Given the description of an element on the screen output the (x, y) to click on. 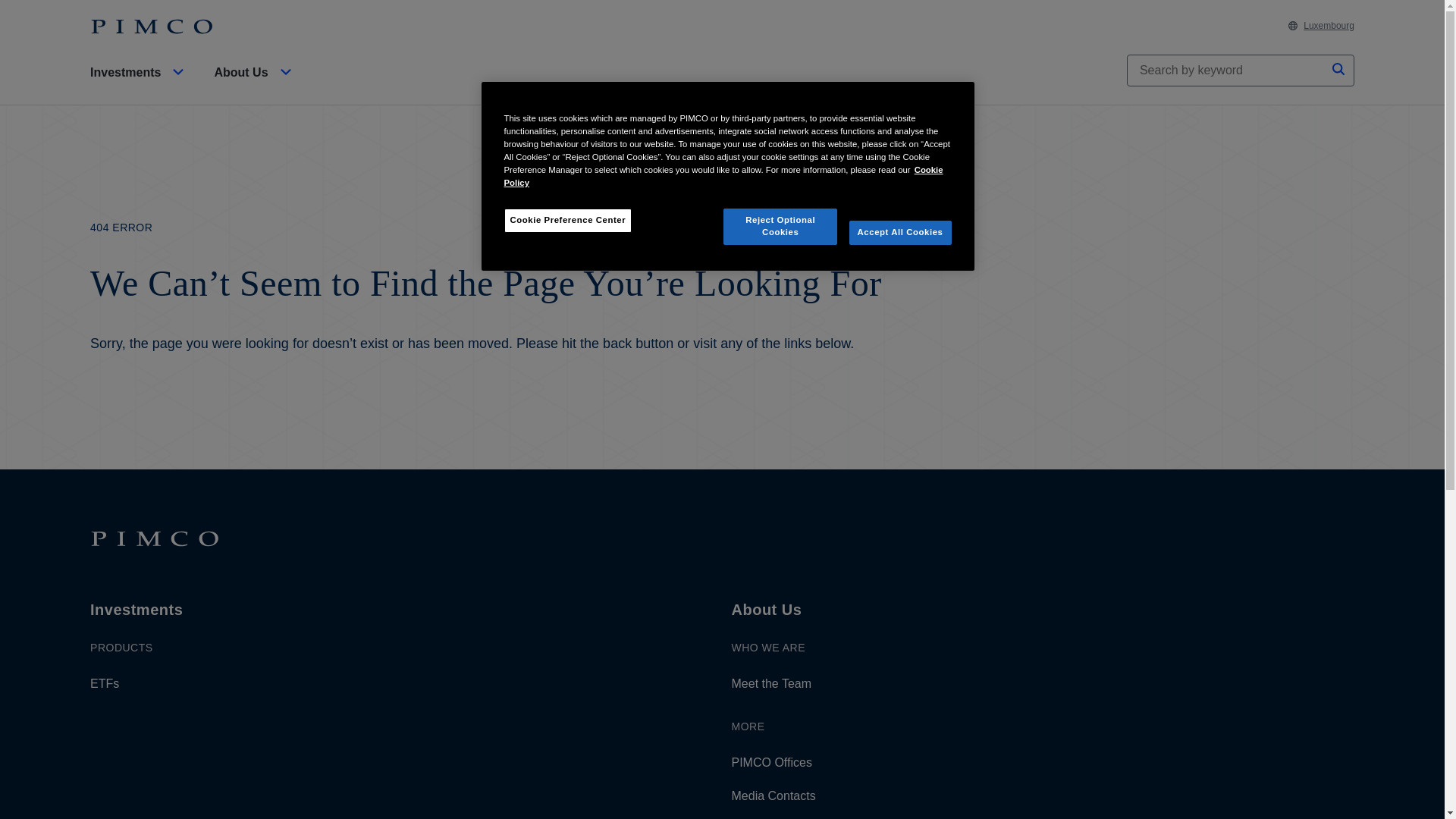
Investments (139, 84)
About Us (255, 84)
PIMCO Home (151, 27)
Insert a query. Press enter to send (1226, 70)
Luxembourg (1321, 25)
